Given the description of an element on the screen output the (x, y) to click on. 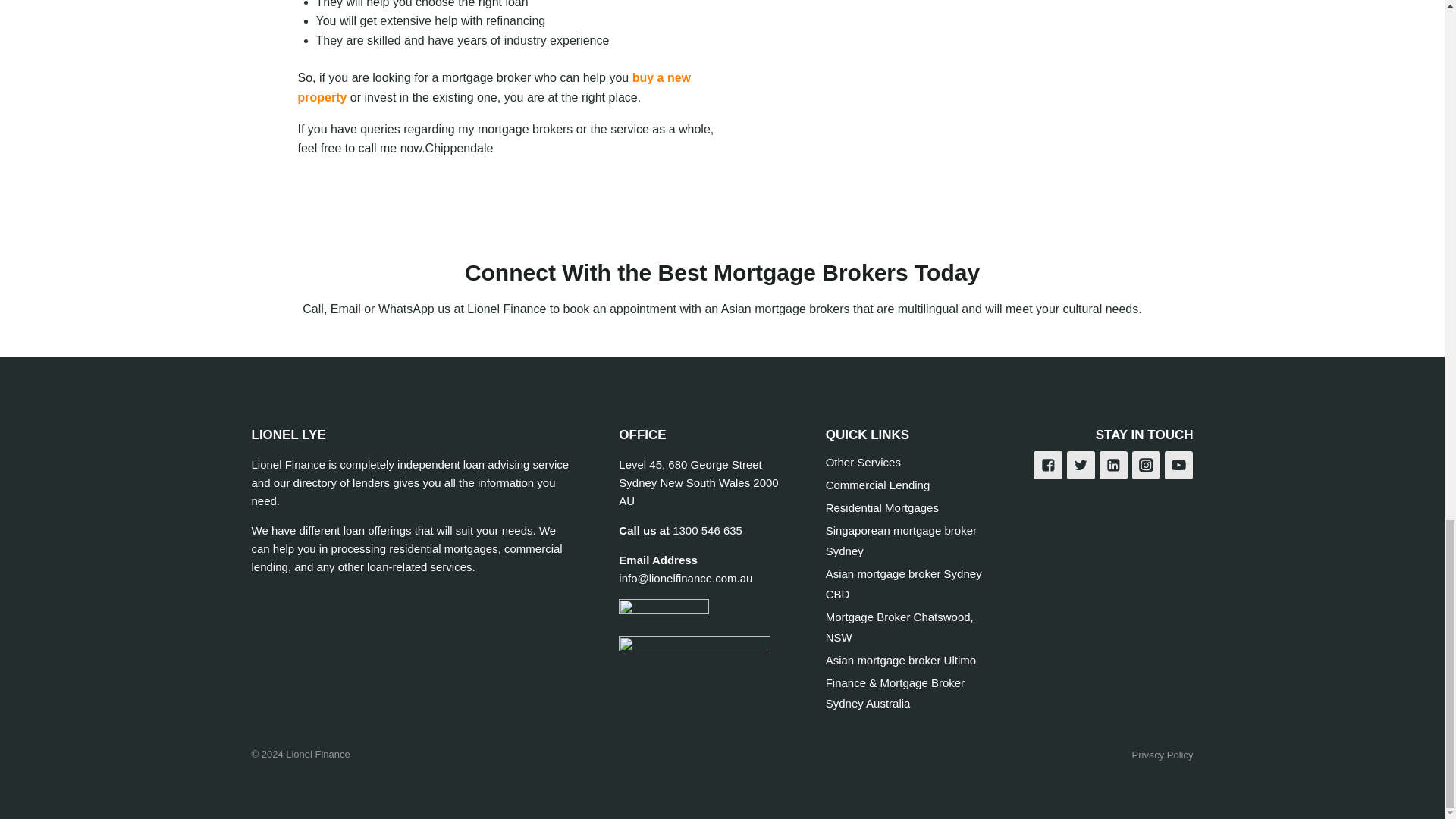
buy a new property (493, 87)
Commercial Lending (906, 485)
Asian mortgage broker Sydney CBD (906, 584)
Residential Mortgages (906, 507)
Level 45, 680 George Street Sydney New South Wales 2000 AU (697, 481)
1300 546 635 (707, 530)
Asian mortgage broker Ultimo (906, 660)
Mortgage Broker Chatswood, NSW (906, 627)
Other Services (906, 462)
Singaporean mortgage broker Sydney (906, 540)
